Given the description of an element on the screen output the (x, y) to click on. 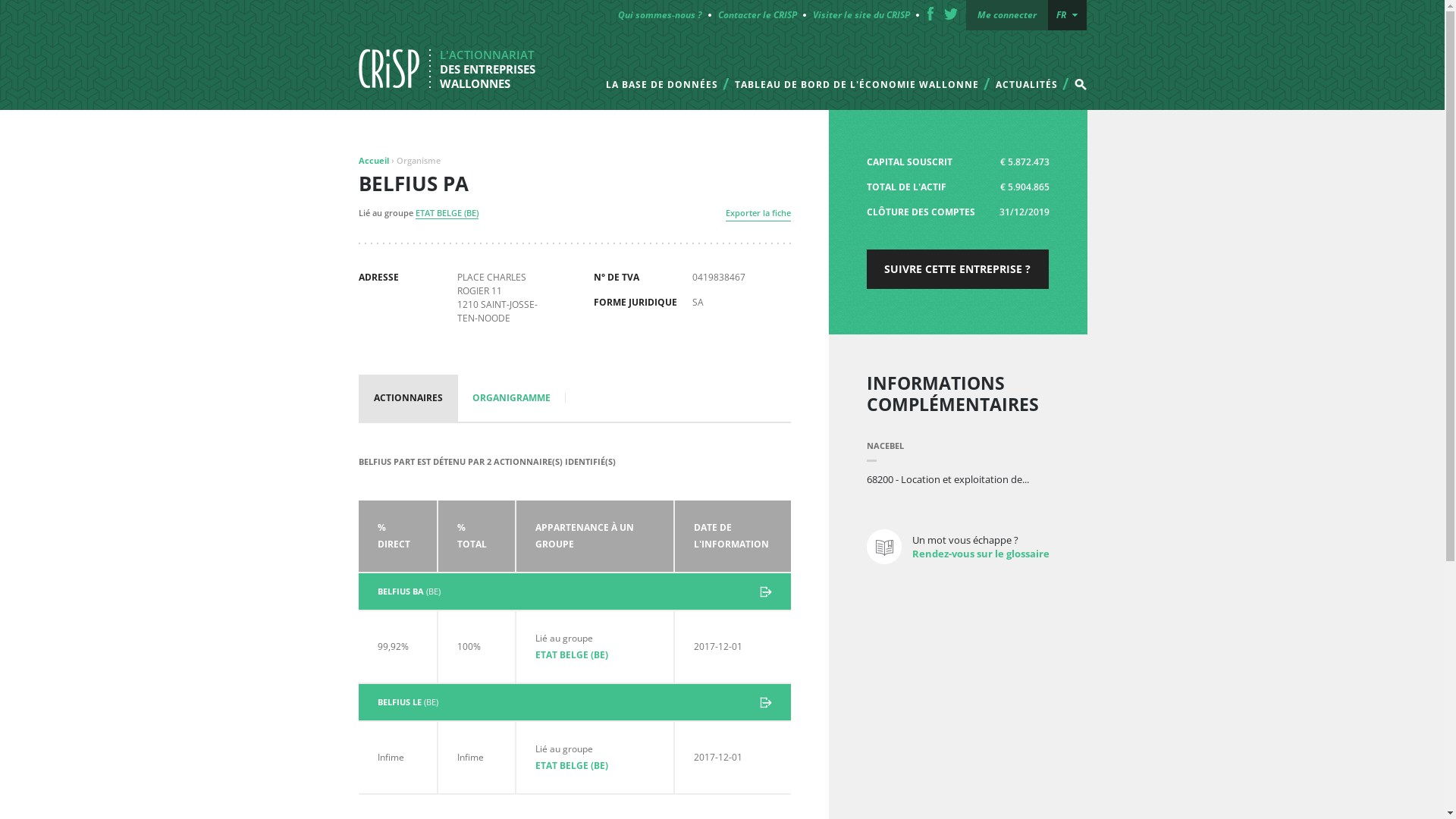
SUIVRE CETTE ENTREPRISE ? Element type: text (957, 268)
Rendez-vous sur le glossaire Element type: text (979, 553)
Exporter la fiche Element type: text (757, 213)
Qui sommes-nous ? Element type: text (661, 15)
ETAT BELGE (BE) Element type: text (571, 654)
ACTIONNAIRES Element type: text (407, 397)
BELFIUS LE (BE)
SOURCE Element type: text (573, 702)
ETAT BELGE (BE) Element type: text (446, 213)
ETAT BELGE (BE) Element type: text (571, 765)
BELFIUS BA (BE)
SOURCE Element type: text (573, 591)
Rechercher Element type: text (1041, 71)
ORGANIGRAMME Element type: text (510, 397)
Visiter le site du CRISP Element type: text (861, 15)
CRISP
L'ACTIONNARIAT DES ENTREPRISES WALLONNES Element type: text (453, 68)
Me connecter Element type: text (1007, 15)
Accueil Element type: text (372, 160)
Contacter le CRISP Element type: text (758, 15)
SEARCH Element type: text (1079, 84)
FR Element type: text (1067, 15)
